Given the description of an element on the screen output the (x, y) to click on. 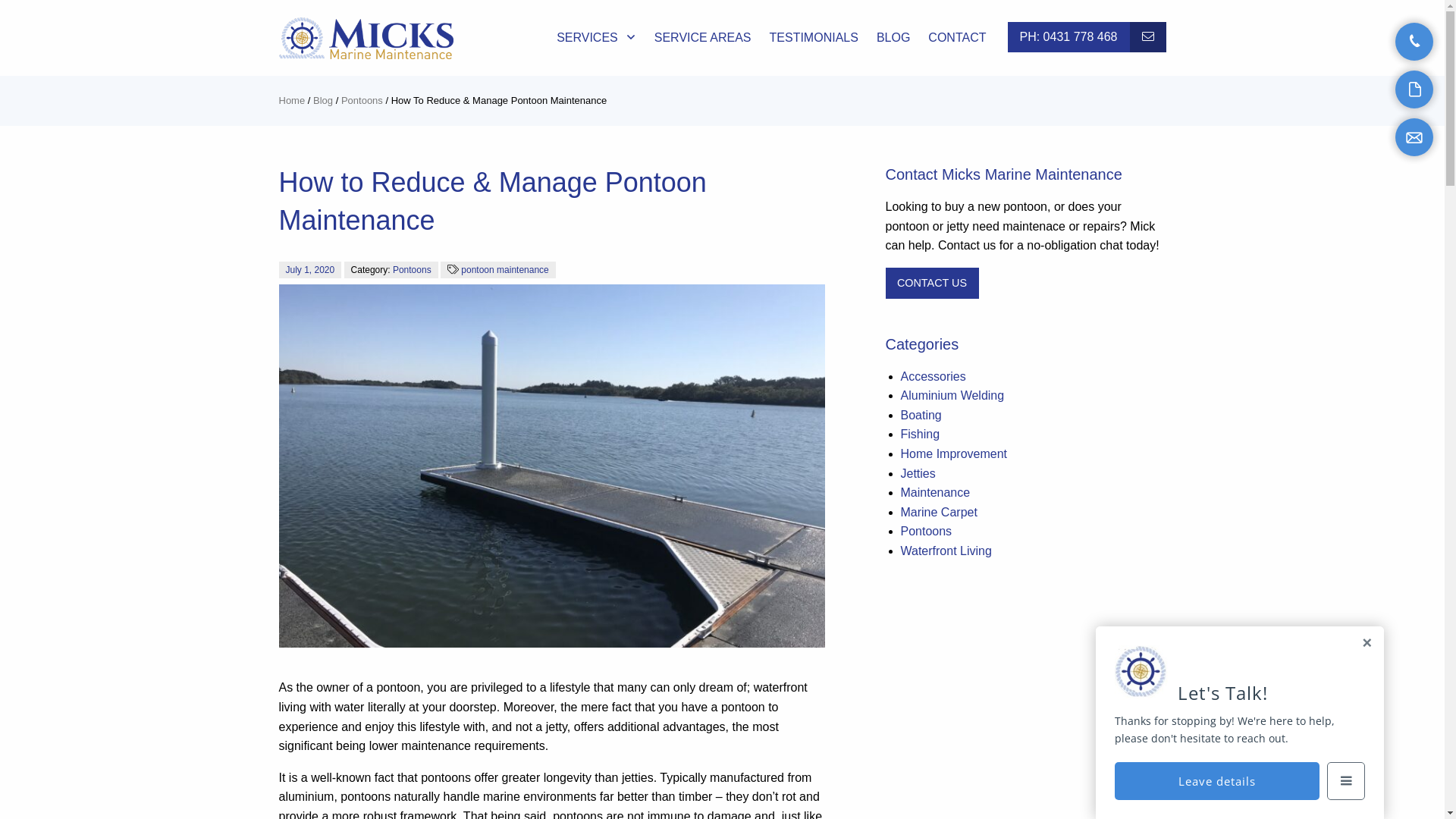
BLOG Element type: text (893, 37)
SERVICE AREAS Element type: text (702, 37)
pontoon maintenance Element type: text (504, 269)
How to Reduce & Manage Pontoon Maintenance Element type: hover (552, 466)
CONTACT Element type: text (956, 37)
Accessories Element type: text (933, 376)
Waterfront Living Element type: text (945, 550)
Micks Marine Maintenance Element type: text (366, 37)
Aluminium Welding Element type: text (952, 395)
Marine Carpet Element type: text (938, 511)
CONTACT US Element type: text (932, 282)
Leave details Element type: text (1216, 781)
Pontoons Element type: text (411, 269)
Home Improvement Element type: text (953, 453)
Home Element type: text (292, 100)
PH: 0431 778 468 Element type: text (1068, 36)
Blog Element type: text (322, 100)
Maintenance Element type: text (935, 492)
July 1, 2020 Element type: text (310, 269)
Boating Element type: text (920, 414)
TESTIMONIALS Element type: text (813, 37)
SERVICES Element type: text (596, 37)
CONTACT US Element type: text (1147, 36)
Fishing Element type: text (920, 433)
Jetties Element type: text (917, 473)
Pontoons Element type: text (926, 530)
Pontoons Element type: text (361, 100)
